Given the description of an element on the screen output the (x, y) to click on. 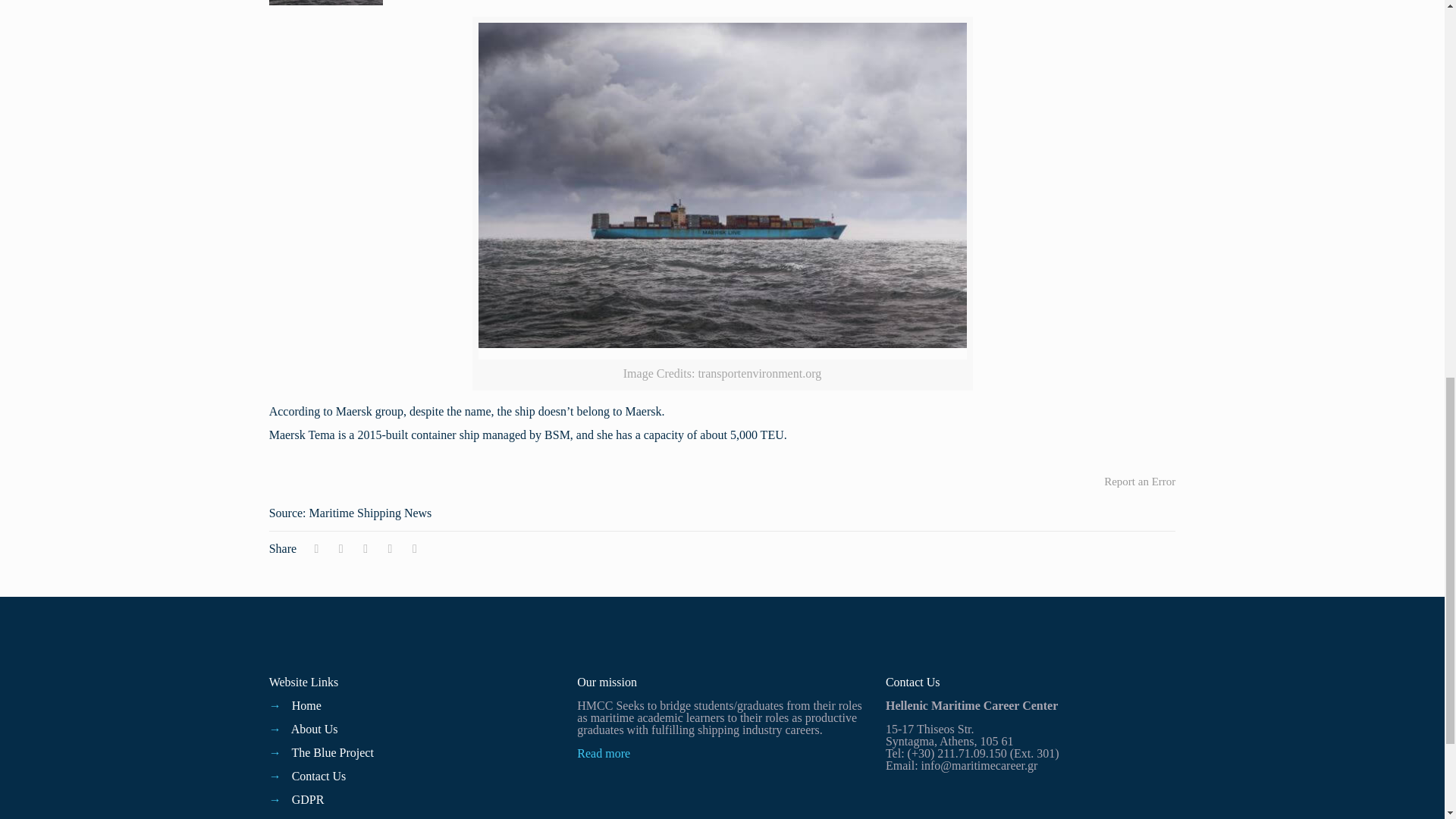
About Us (314, 728)
The Blue Project (331, 752)
GDPR (308, 799)
Home (306, 705)
Contact Us (319, 775)
Error (1138, 481)
Read more (603, 753)
Report an Error (1138, 481)
